Given the description of an element on the screen output the (x, y) to click on. 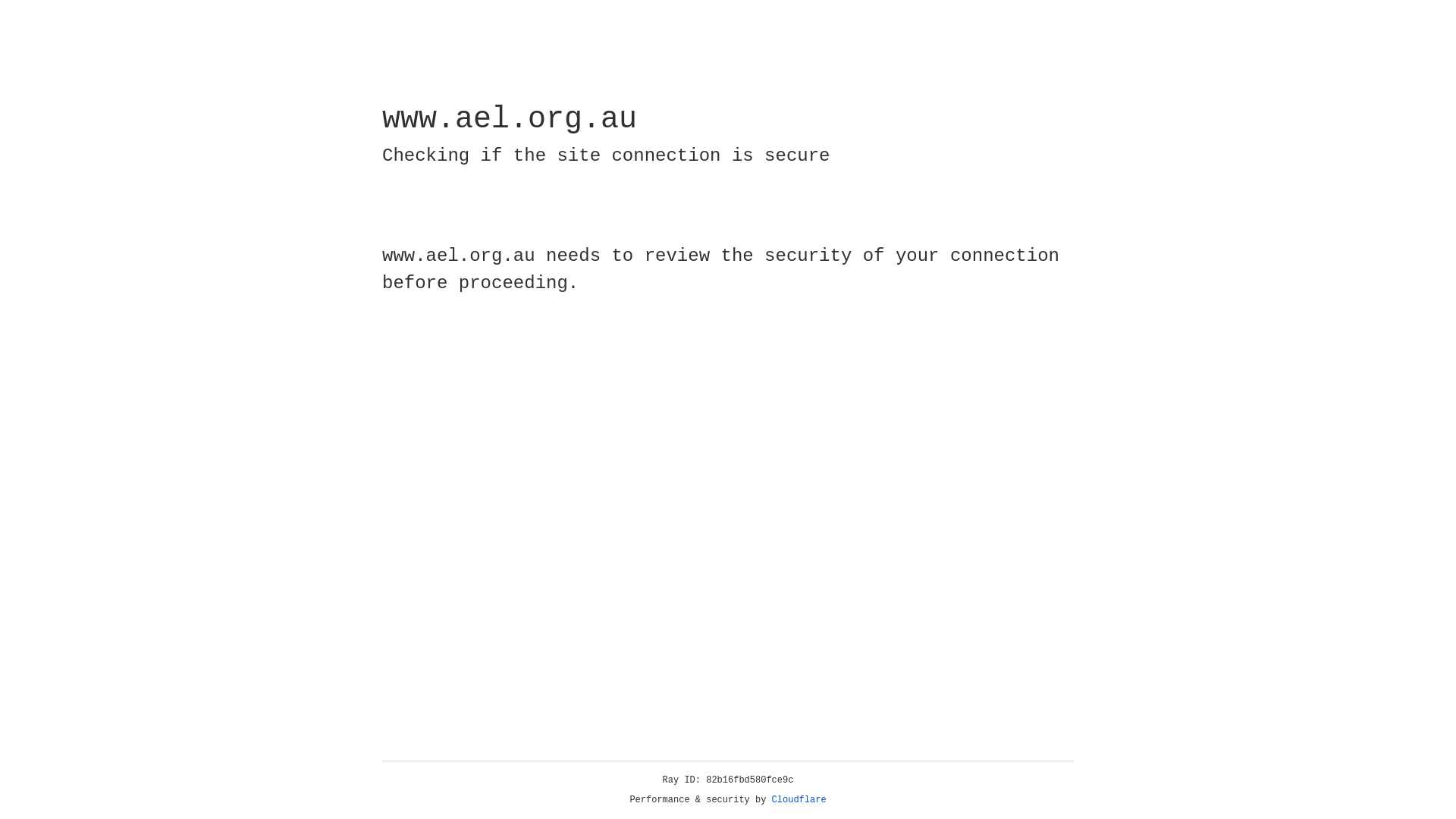
Cloudflare Element type: text (798, 799)
